Given the description of an element on the screen output the (x, y) to click on. 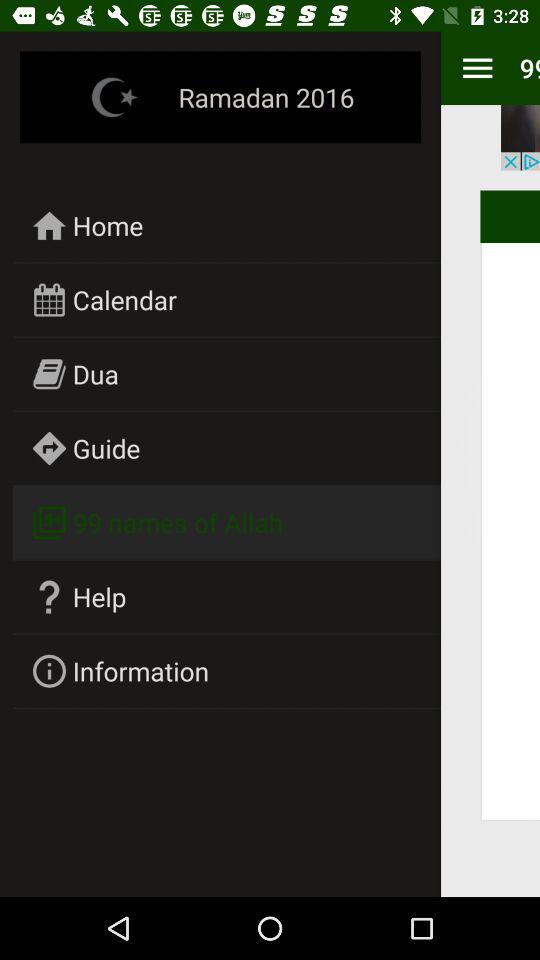
turn on icon next to the ramadan 2016 (477, 68)
